Given the description of an element on the screen output the (x, y) to click on. 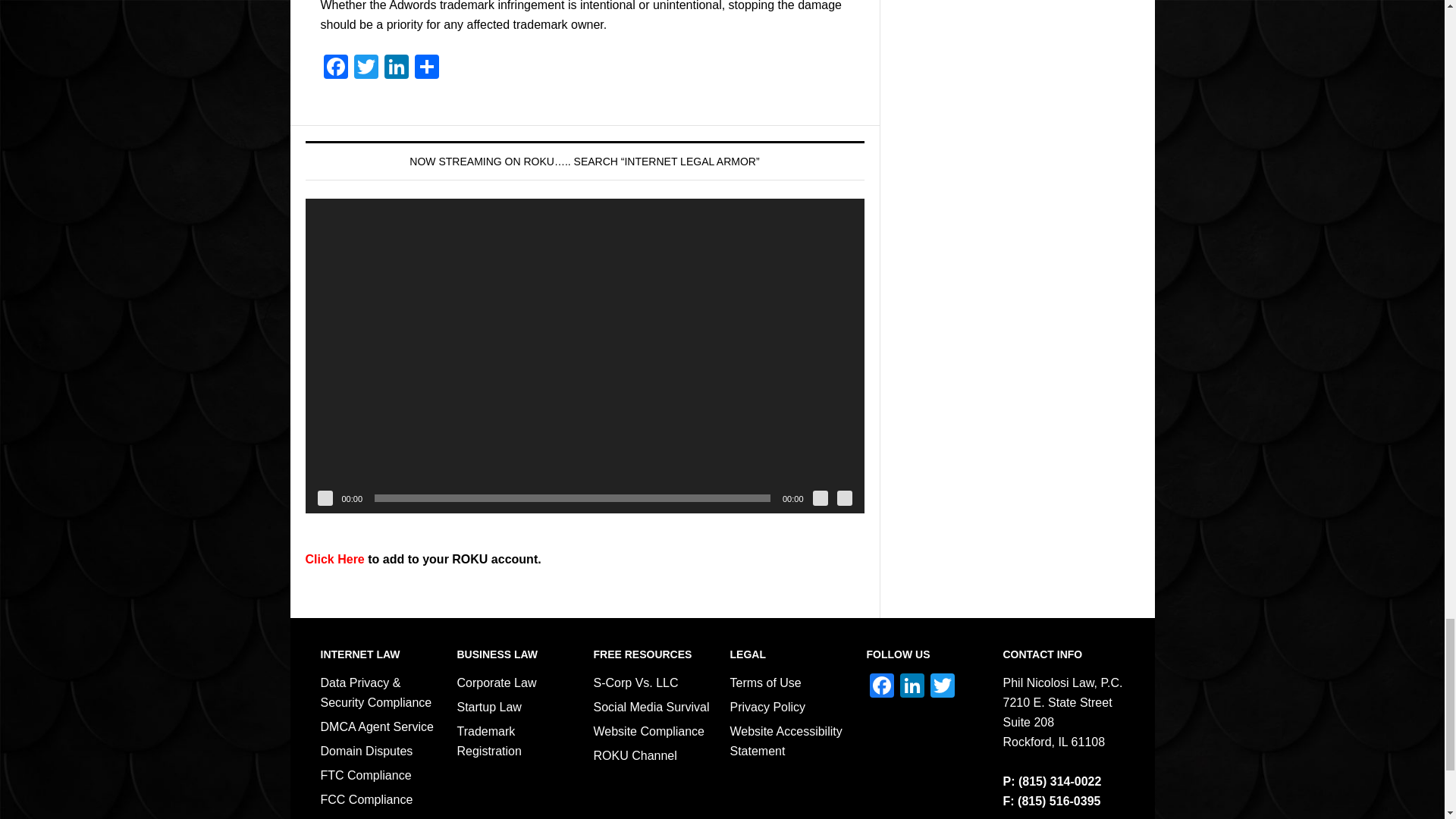
Facebook (335, 68)
Twitter (365, 68)
Fullscreen (844, 498)
Twitter (365, 68)
LinkedIn Company (911, 687)
Facebook (881, 687)
LinkedIn (395, 68)
LinkedIn (395, 68)
Facebook (335, 68)
Play (324, 498)
